Given the description of an element on the screen output the (x, y) to click on. 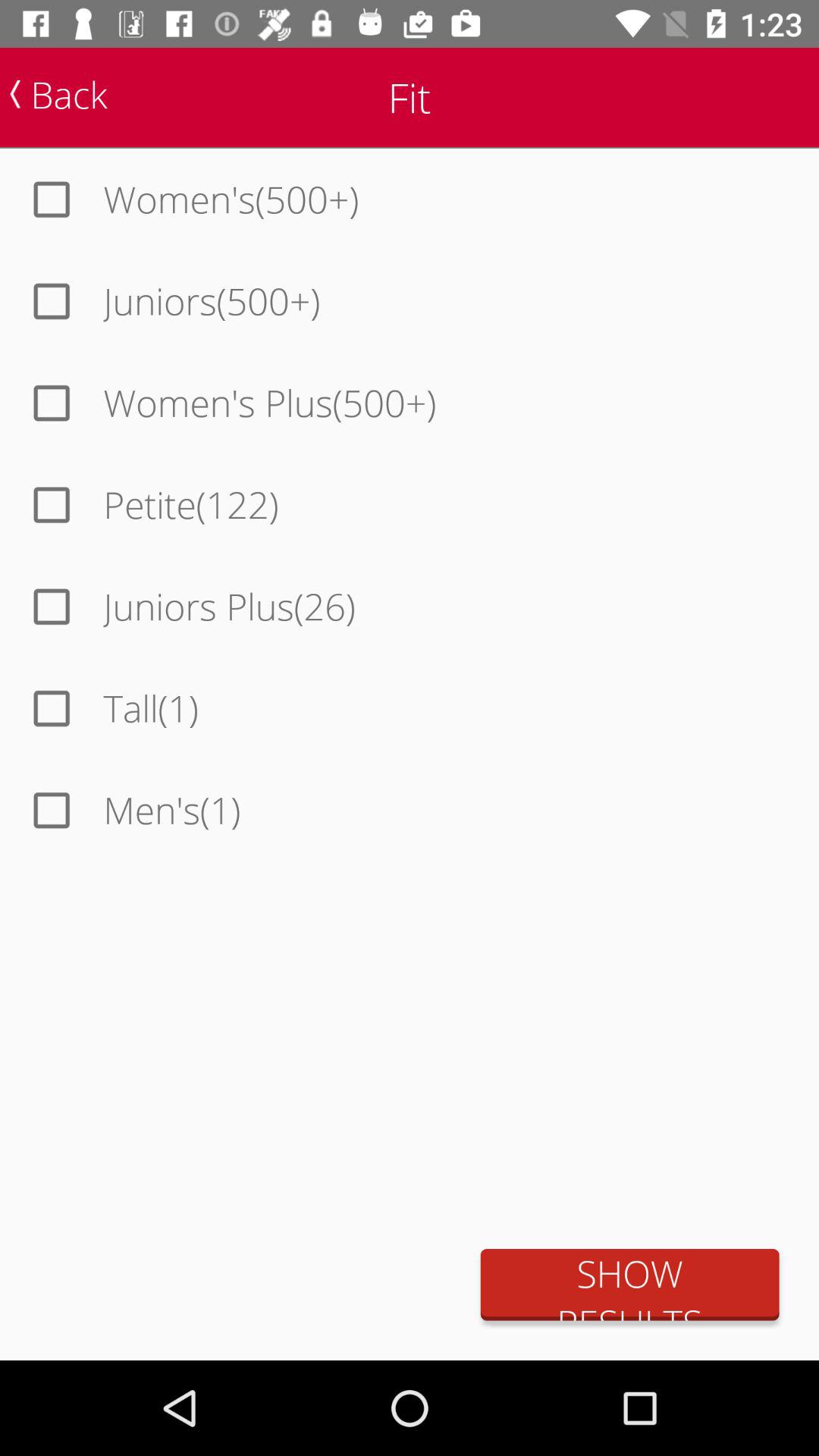
choose the show results item (629, 1284)
